Given the description of an element on the screen output the (x, y) to click on. 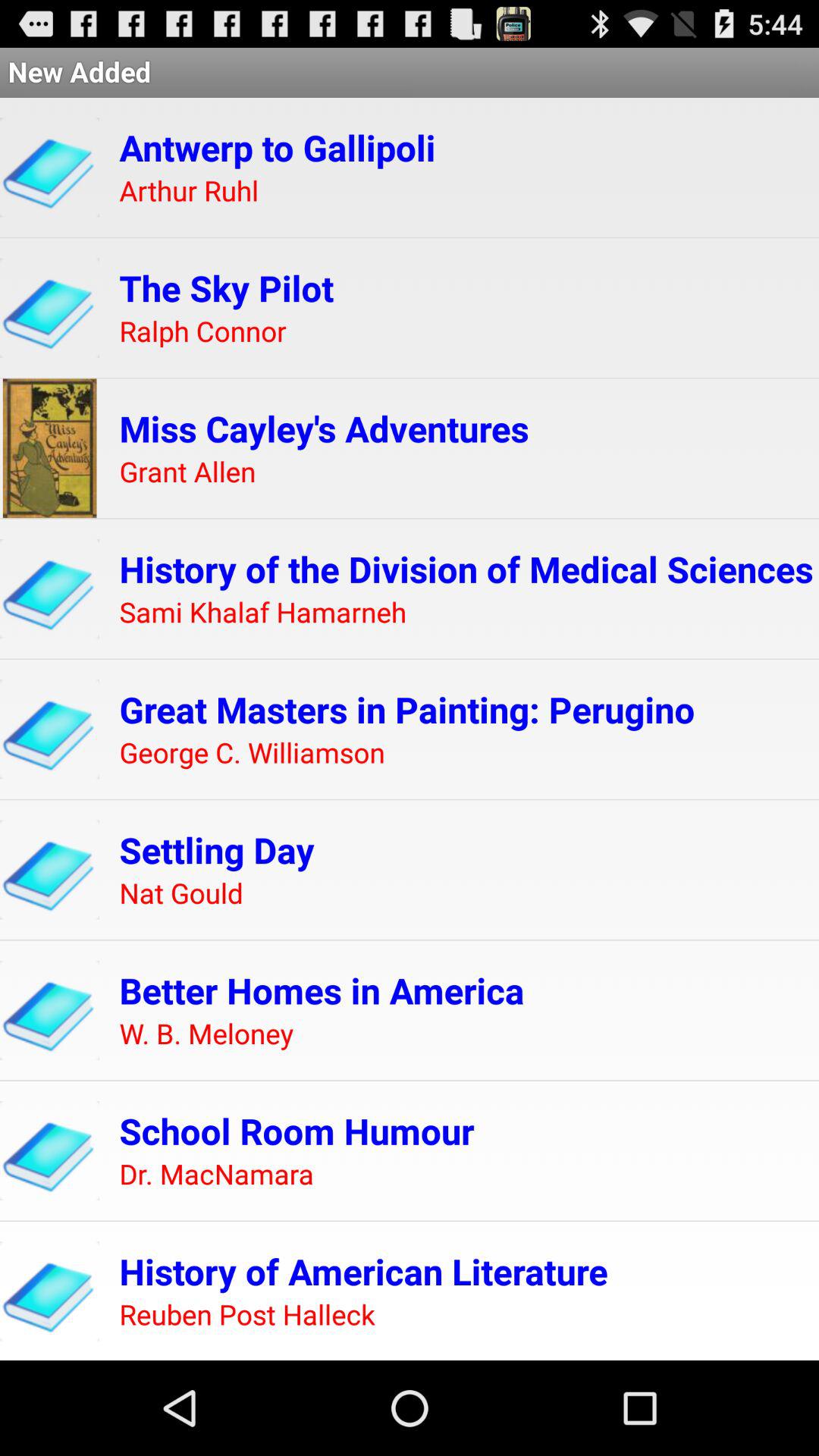
choose app below the w. b. meloney item (296, 1130)
